Given the description of an element on the screen output the (x, y) to click on. 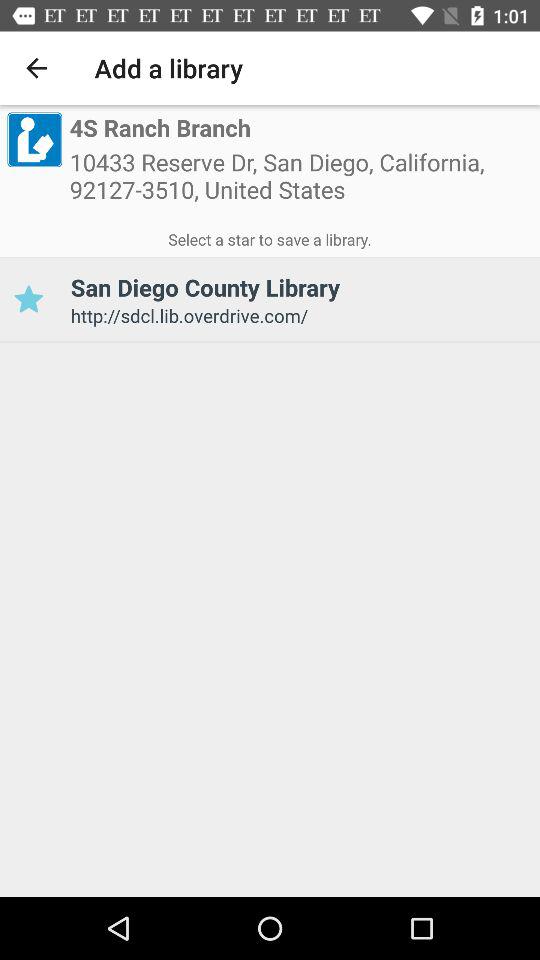
open the item to the left of san diego county item (28, 299)
